Given the description of an element on the screen output the (x, y) to click on. 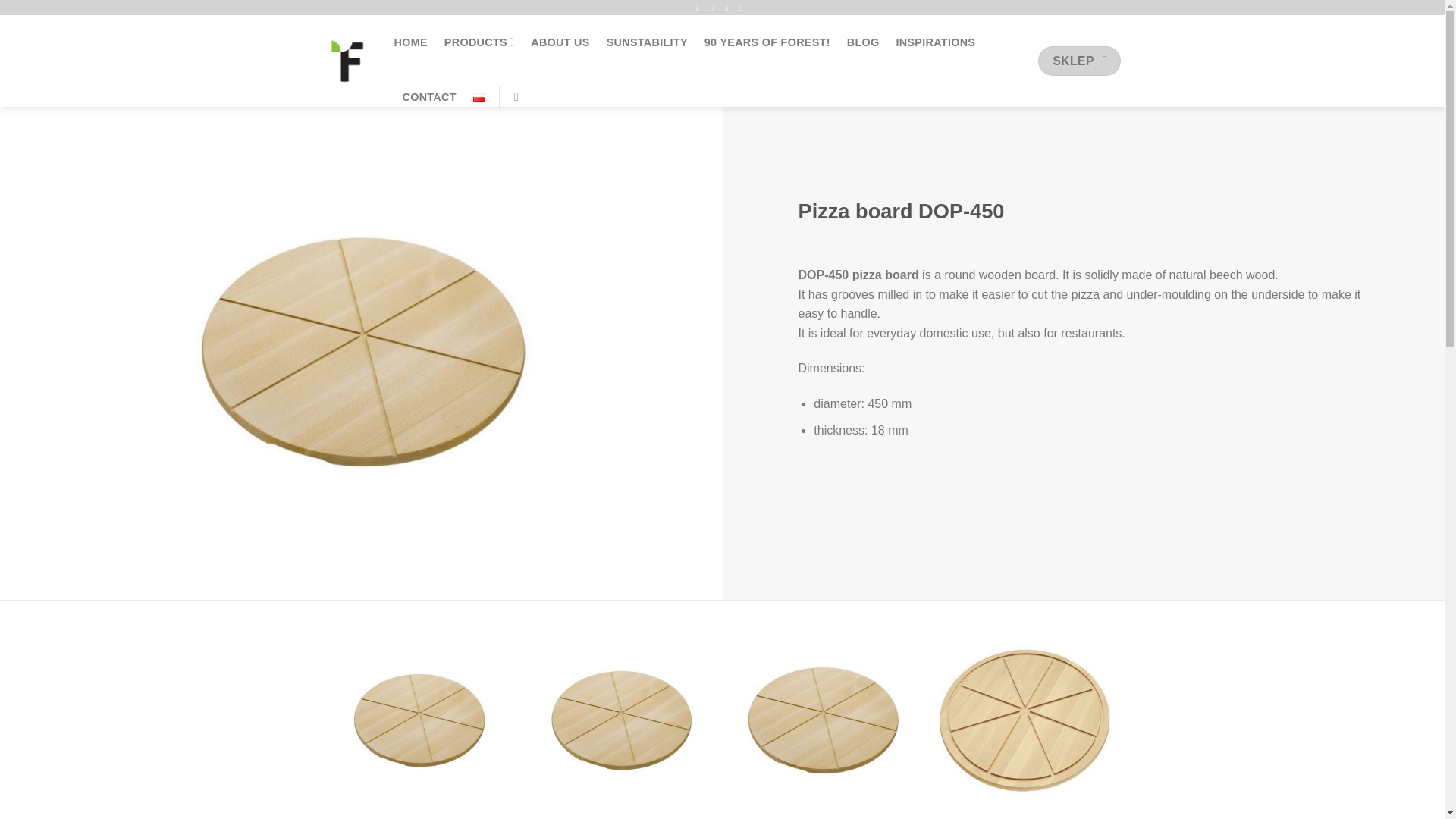
PRODUCTS (478, 42)
INSPIRATIONS (935, 42)
90 YEARS OF FOREST! (766, 42)
SKLEP (1079, 60)
SUNSTABILITY (647, 42)
CONTACT (428, 96)
ABOUT US (560, 42)
